Given the description of an element on the screen output the (x, y) to click on. 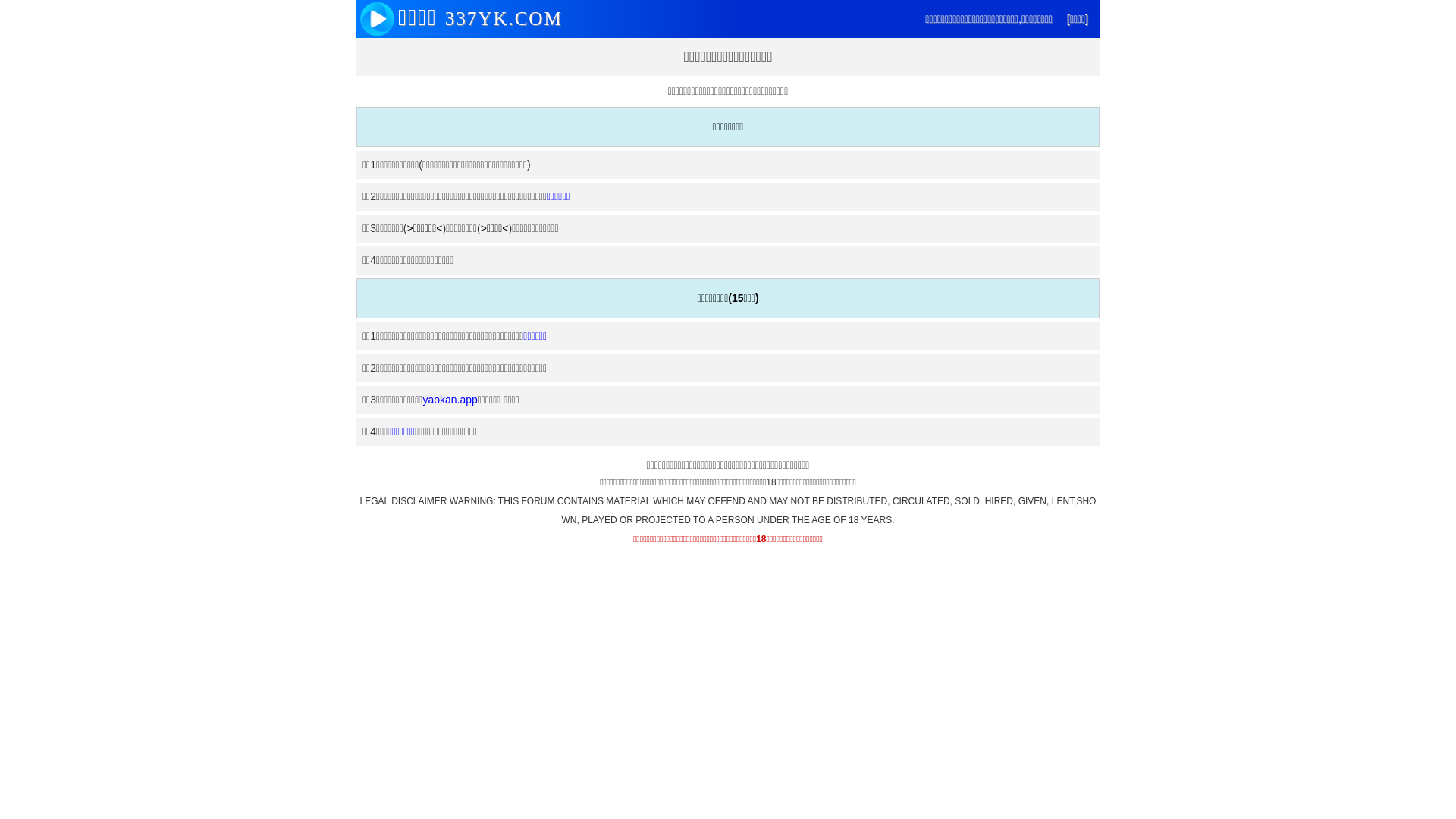
337YK.COM Element type: text (499, 18)
